Given the description of an element on the screen output the (x, y) to click on. 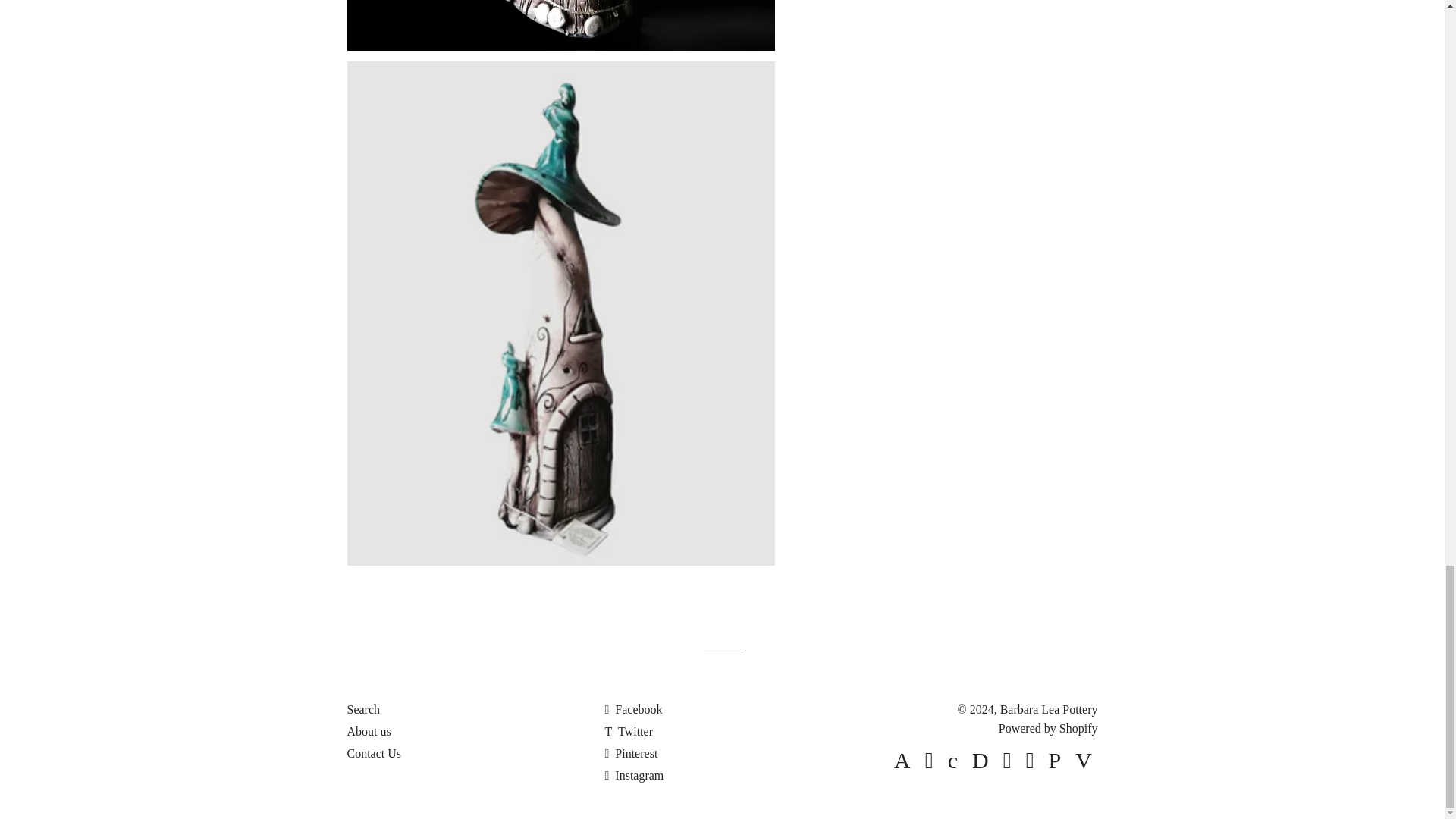
Barbara Lea Pottery on Instagram (633, 775)
Barbara Lea Pottery on Pinterest (631, 753)
Barbara Lea Pottery on Facebook (633, 708)
Barbara Lea Pottery on Twitter (628, 730)
